Given the description of an element on the screen output the (x, y) to click on. 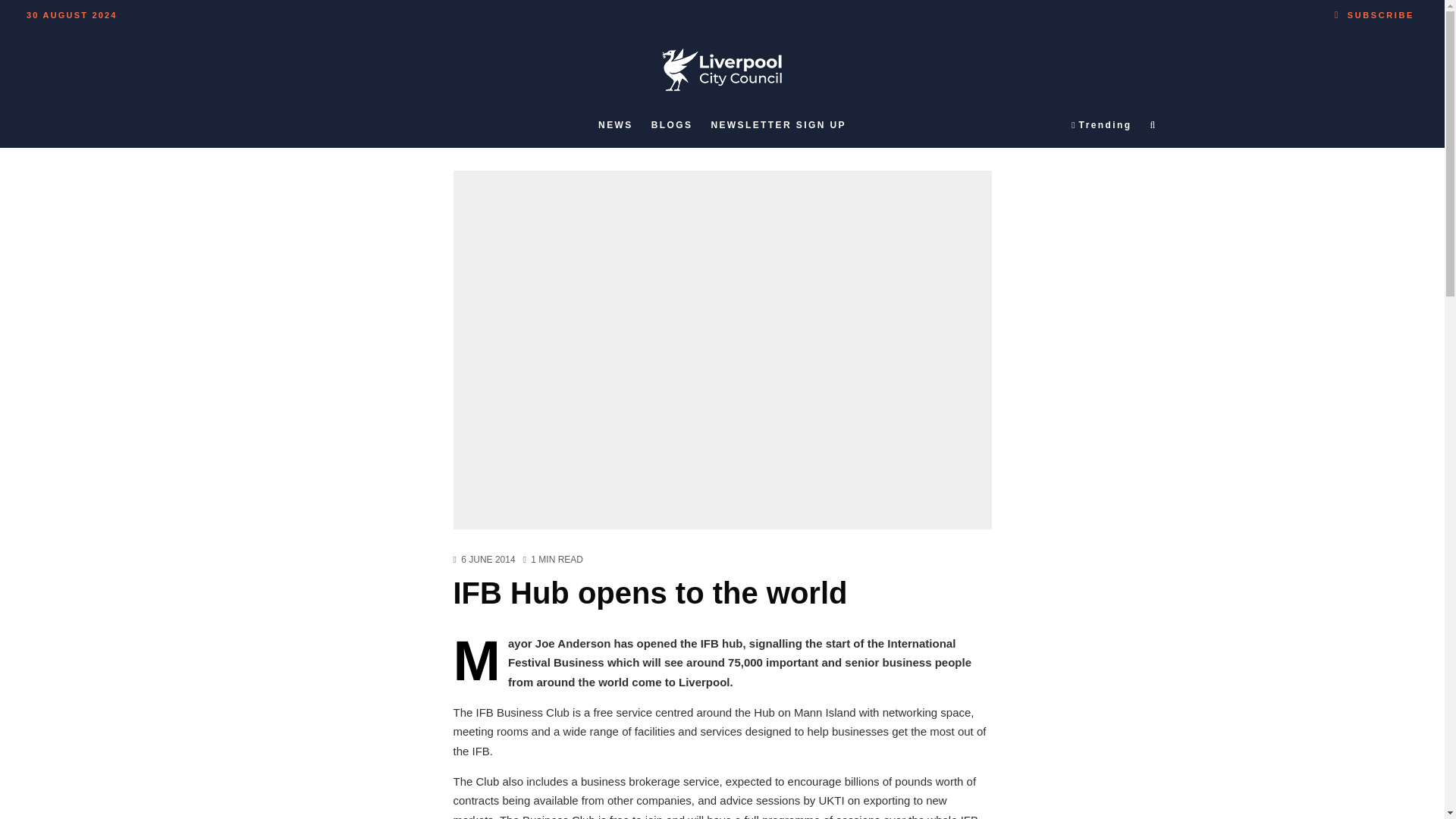
NEWSLETTER SIGN UP (778, 125)
BLOGS (671, 125)
SUBSCRIBE (1374, 11)
NEWS (615, 125)
Trending (1101, 125)
